Given the description of an element on the screen output the (x, y) to click on. 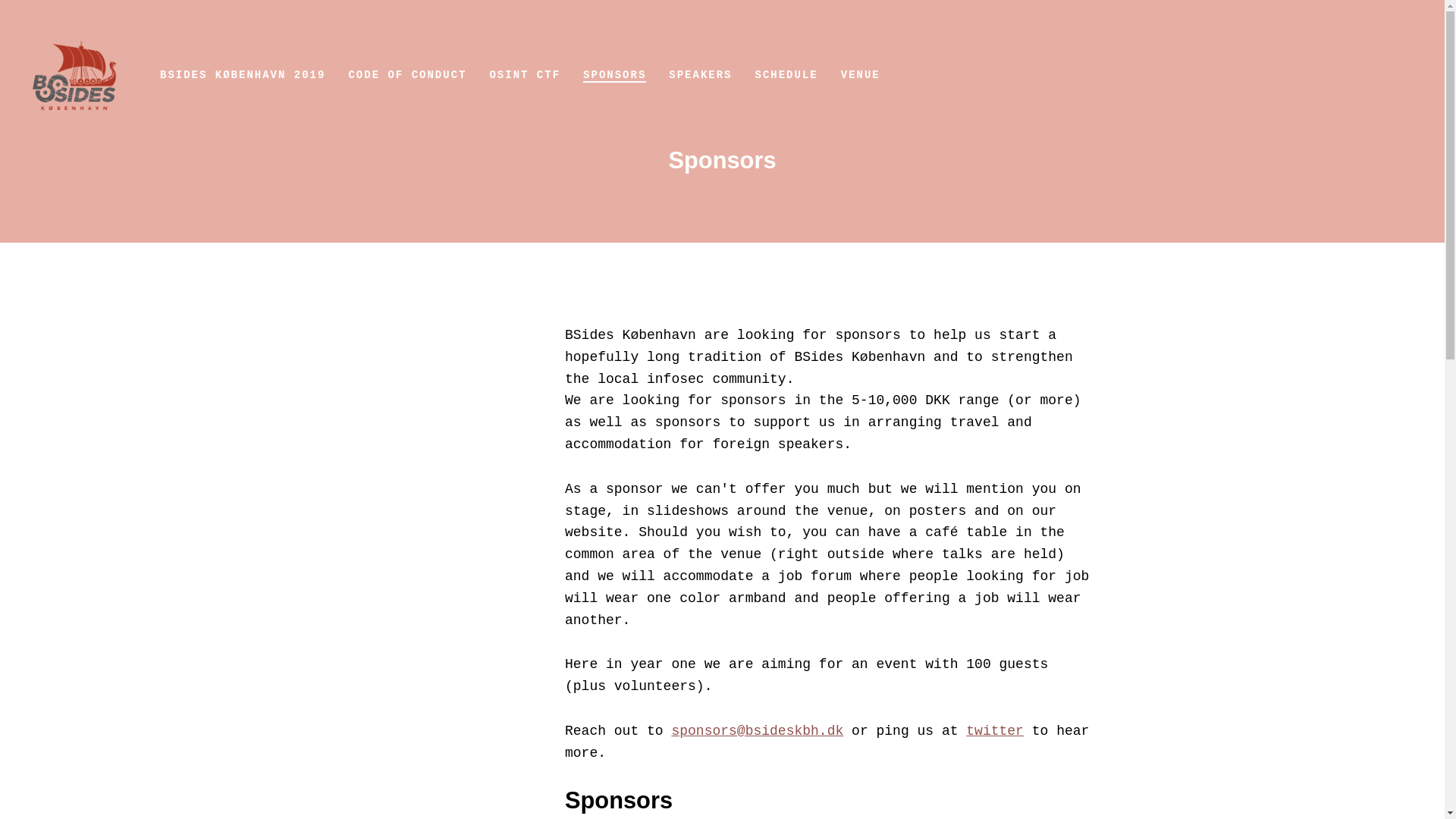
VENUE (860, 75)
CODE OF CONDUCT (406, 75)
SPEAKERS (700, 75)
SPONSORS (614, 75)
OSINT CTF (524, 75)
twitter (994, 730)
SCHEDULE (786, 75)
